Given the description of an element on the screen output the (x, y) to click on. 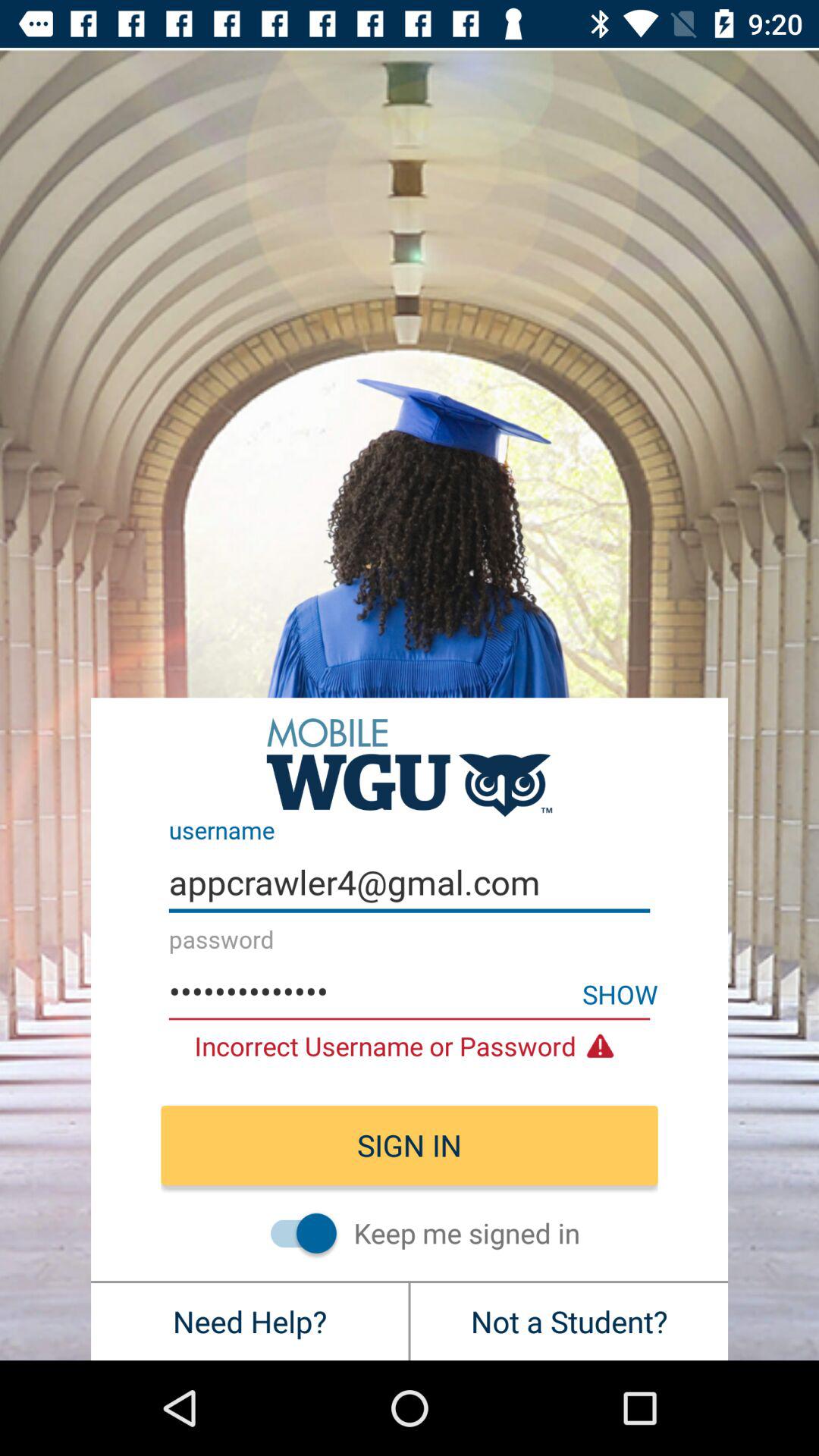
tap sign in icon (409, 1145)
